Given the description of an element on the screen output the (x, y) to click on. 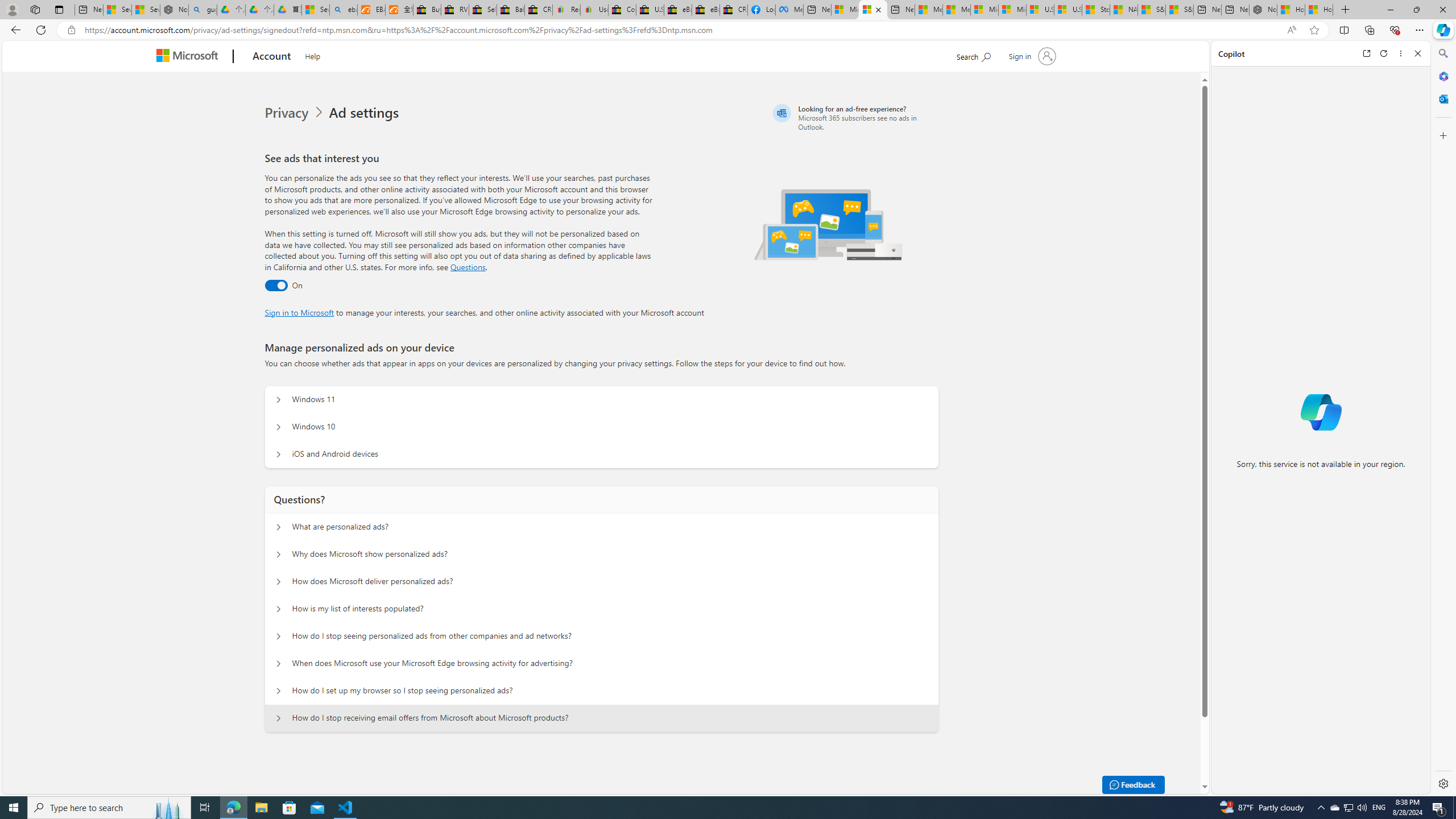
Help (312, 54)
Customize (1442, 135)
Close (1417, 53)
U.S. State Privacy Disclosures - eBay Inc. (649, 9)
Consumer Health Data Privacy Policy - eBay Inc. (621, 9)
eBay Inc. Reports Third Quarter 2023 Results (706, 9)
Settings (1442, 783)
Ad settings (366, 112)
Collections (1369, 29)
App bar (728, 29)
